Given the description of an element on the screen output the (x, y) to click on. 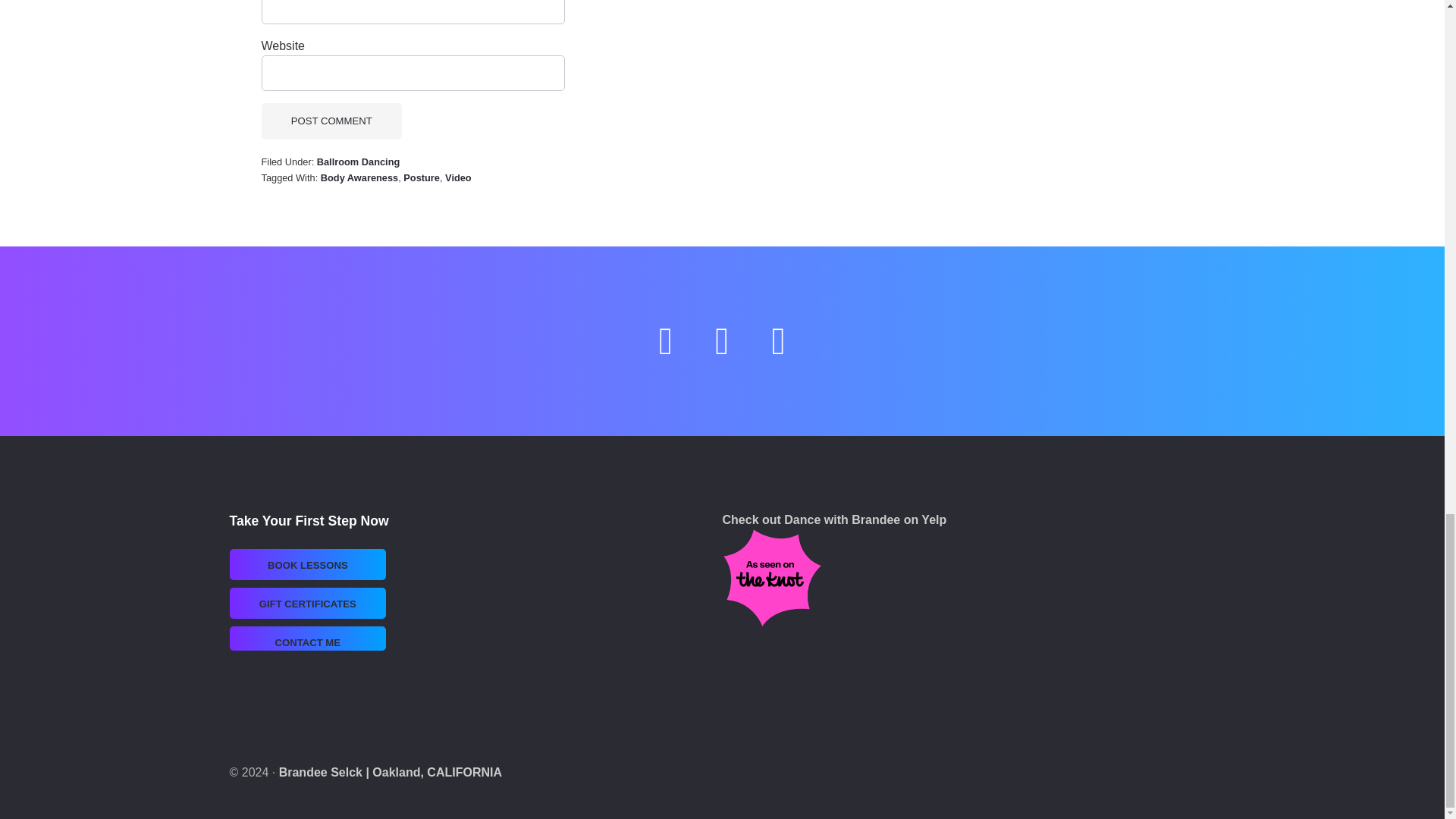
Video (458, 177)
Post Comment (330, 120)
Video (778, 349)
Email (666, 349)
Body Awareness (358, 177)
Call (722, 349)
GIFT CERTIFICATES (307, 603)
BOOK LESSONS (307, 564)
Post Comment (330, 120)
Posture (421, 177)
